Given the description of an element on the screen output the (x, y) to click on. 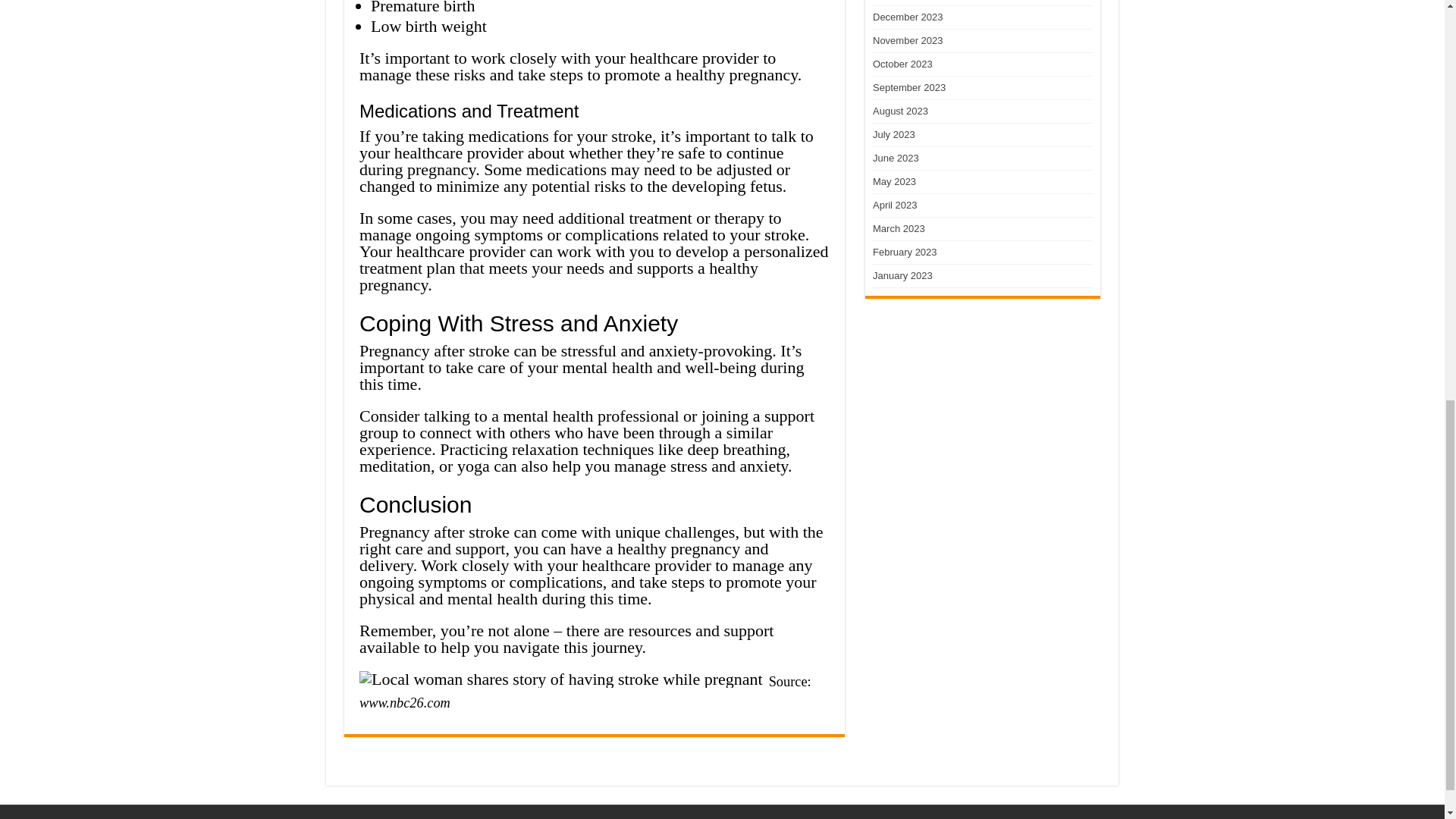
November 2023 (907, 40)
October 2023 (902, 63)
December 2023 (907, 16)
September 2023 (908, 87)
